Given the description of an element on the screen output the (x, y) to click on. 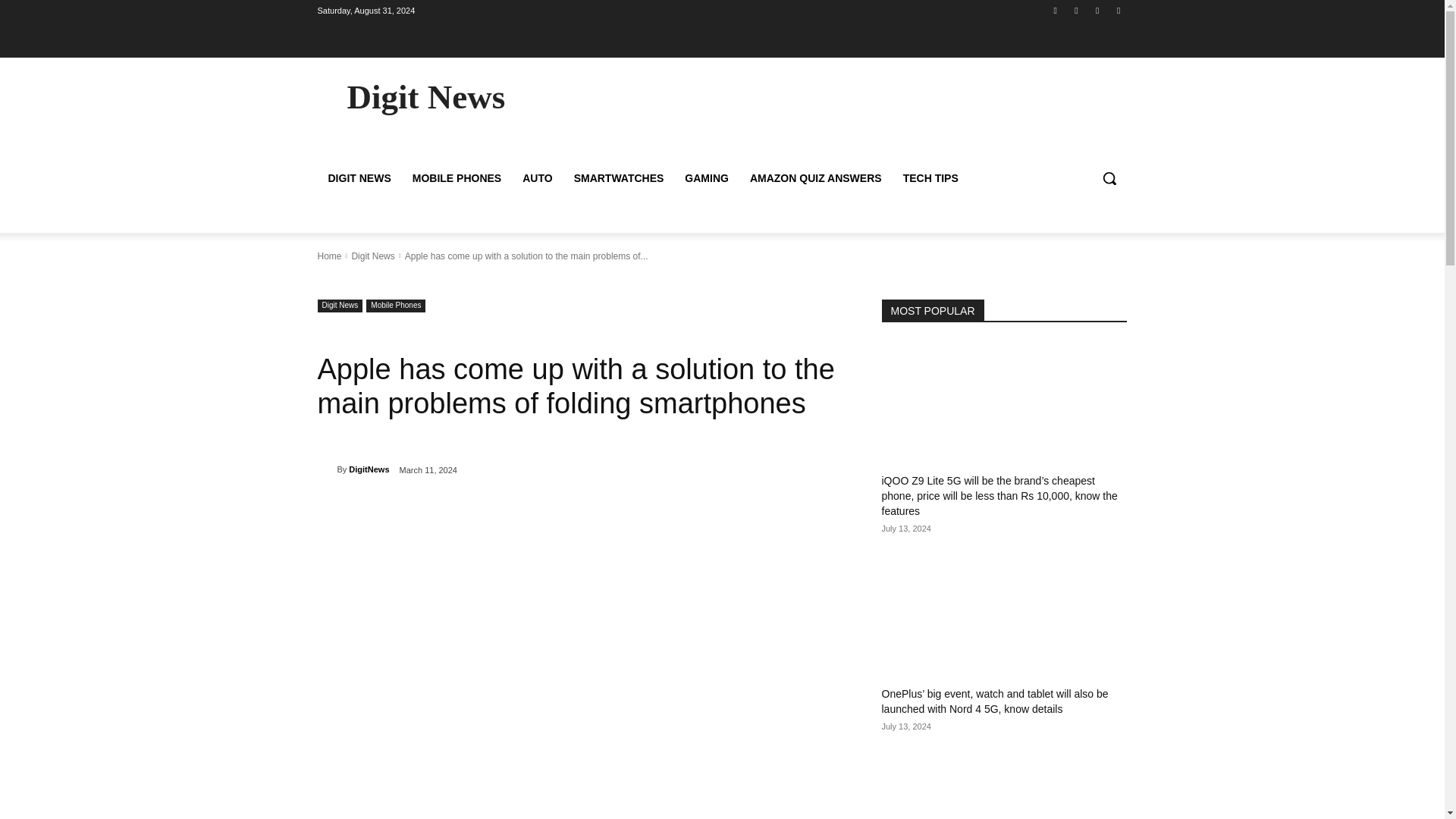
SMARTWATCHES (619, 176)
DIGIT NEWS (359, 176)
DigitNews (326, 468)
Facebook (1055, 9)
View all posts in Digit News (372, 255)
Digit News (372, 255)
Twitter (1097, 9)
Instagram (1075, 9)
TECH TIPS (930, 176)
Mobile Phones (395, 305)
